Given the description of an element on the screen output the (x, y) to click on. 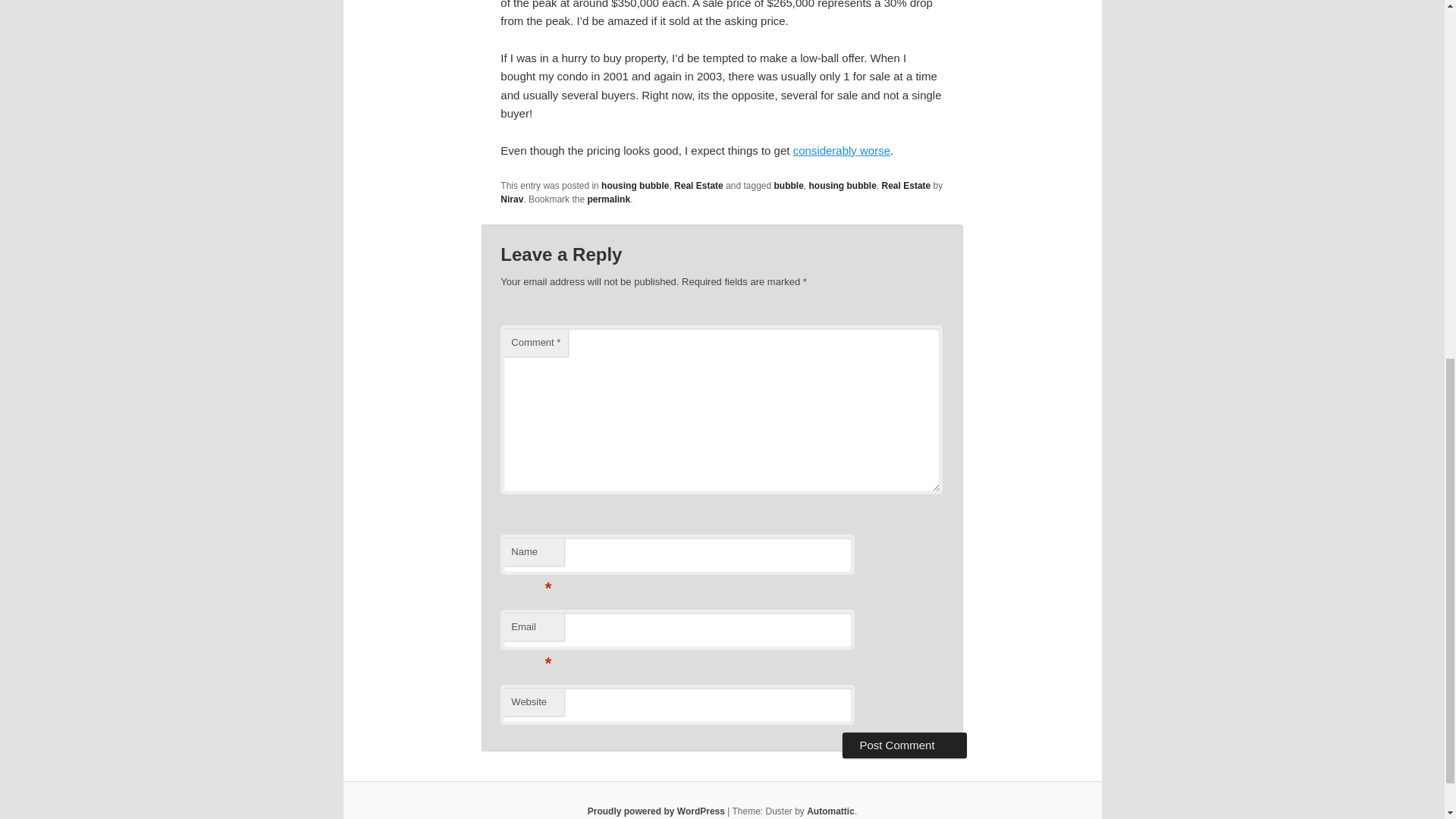
Real Estate (906, 185)
Automattic (830, 810)
housing bubble (634, 185)
A Semantic Personal Publishing Platform (656, 810)
considerably worse (841, 150)
bubble (788, 185)
Real Estate (698, 185)
housing bubble (842, 185)
Nirav (511, 199)
Permalink to Forclosure In The Neighborhood (608, 199)
Post Comment (904, 745)
Proudly powered by WordPress (656, 810)
permalink (608, 199)
Post Comment (904, 745)
